Given the description of an element on the screen output the (x, y) to click on. 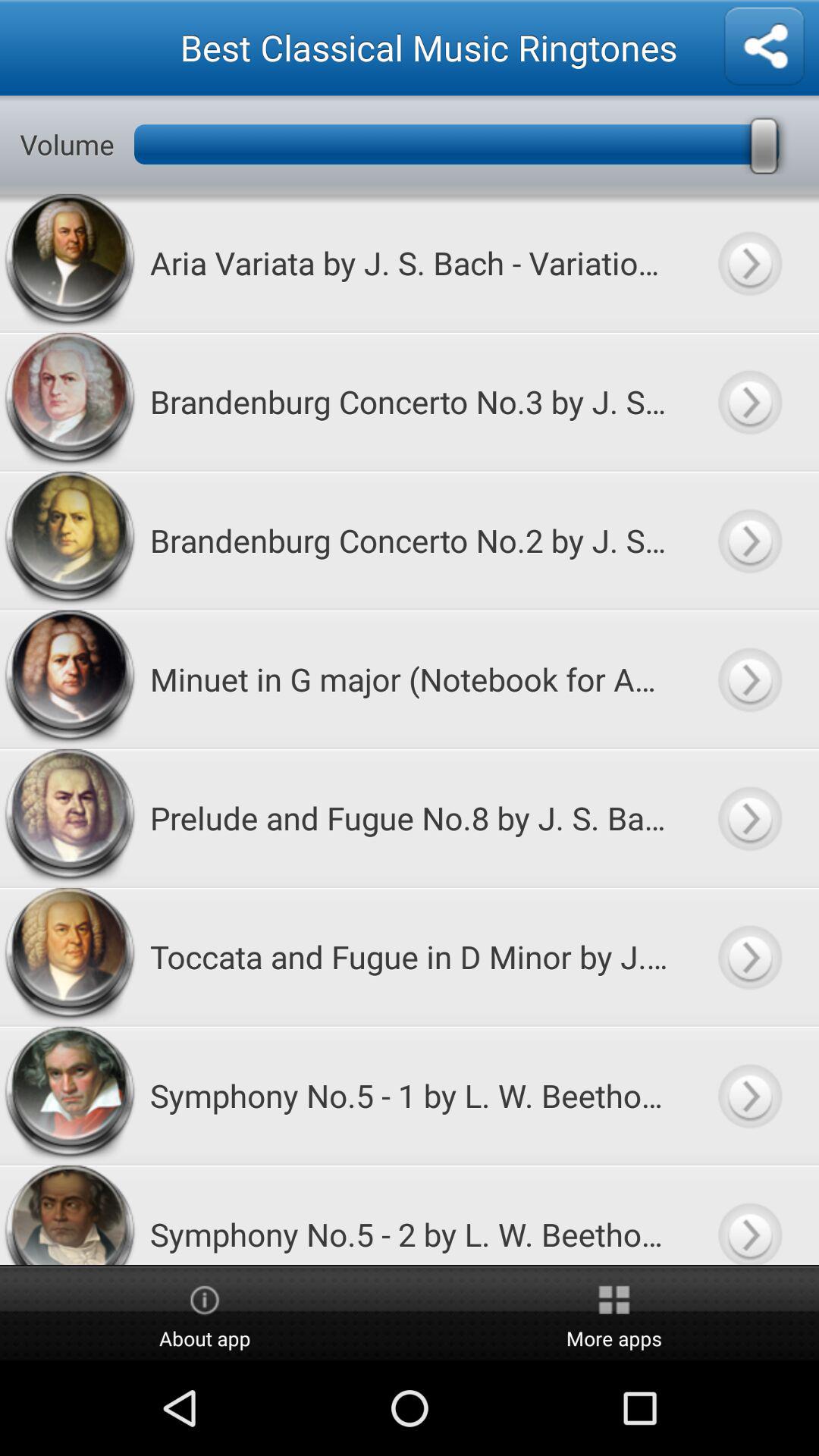
open button (749, 818)
